Given the description of an element on the screen output the (x, y) to click on. 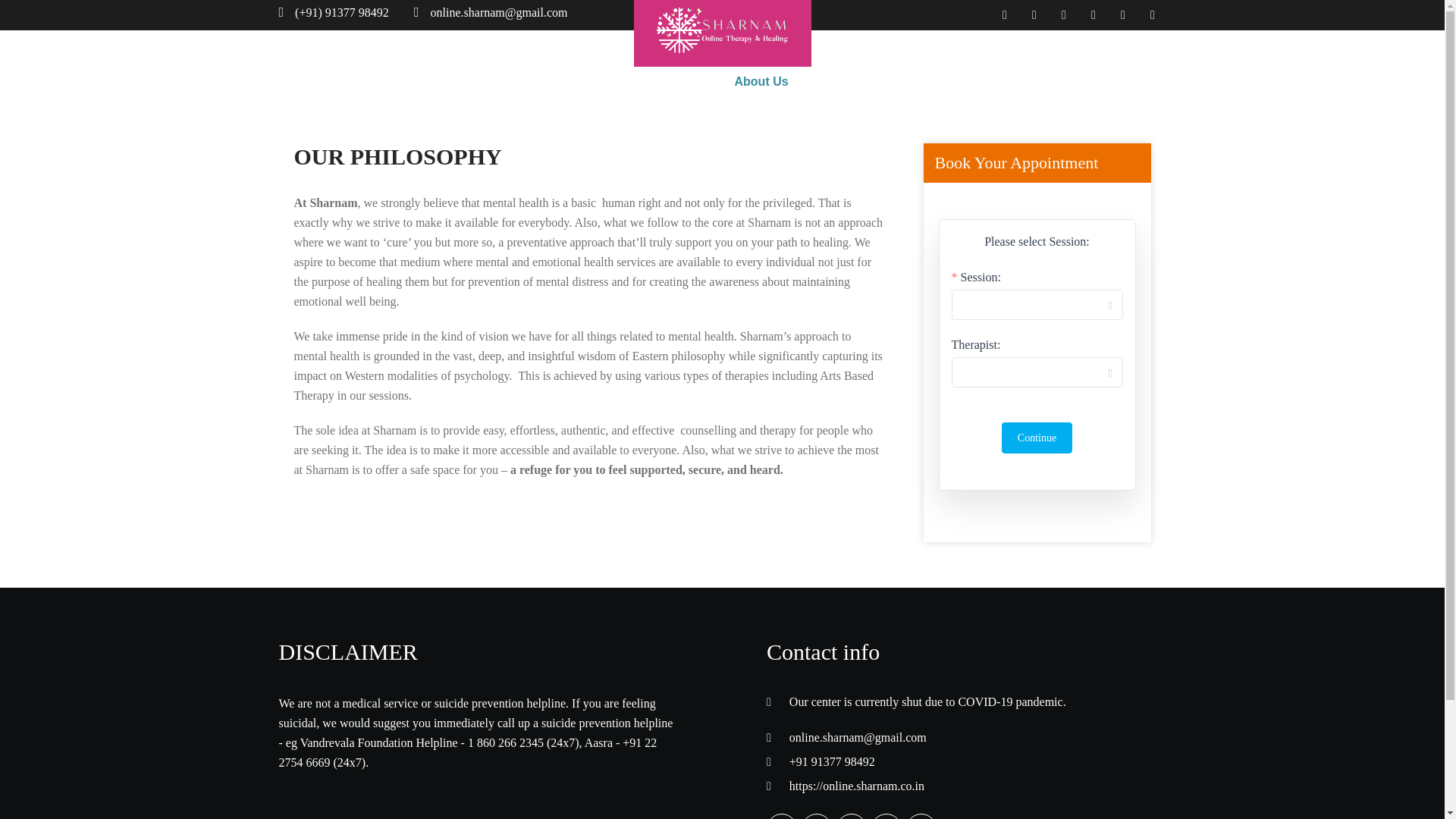
Contact Us (1015, 81)
Home (413, 81)
Our Online Services (522, 81)
FAQs (932, 81)
Our Therapists (657, 81)
Resources (852, 81)
About Us (761, 81)
Continue (1036, 437)
